Given the description of an element on the screen output the (x, y) to click on. 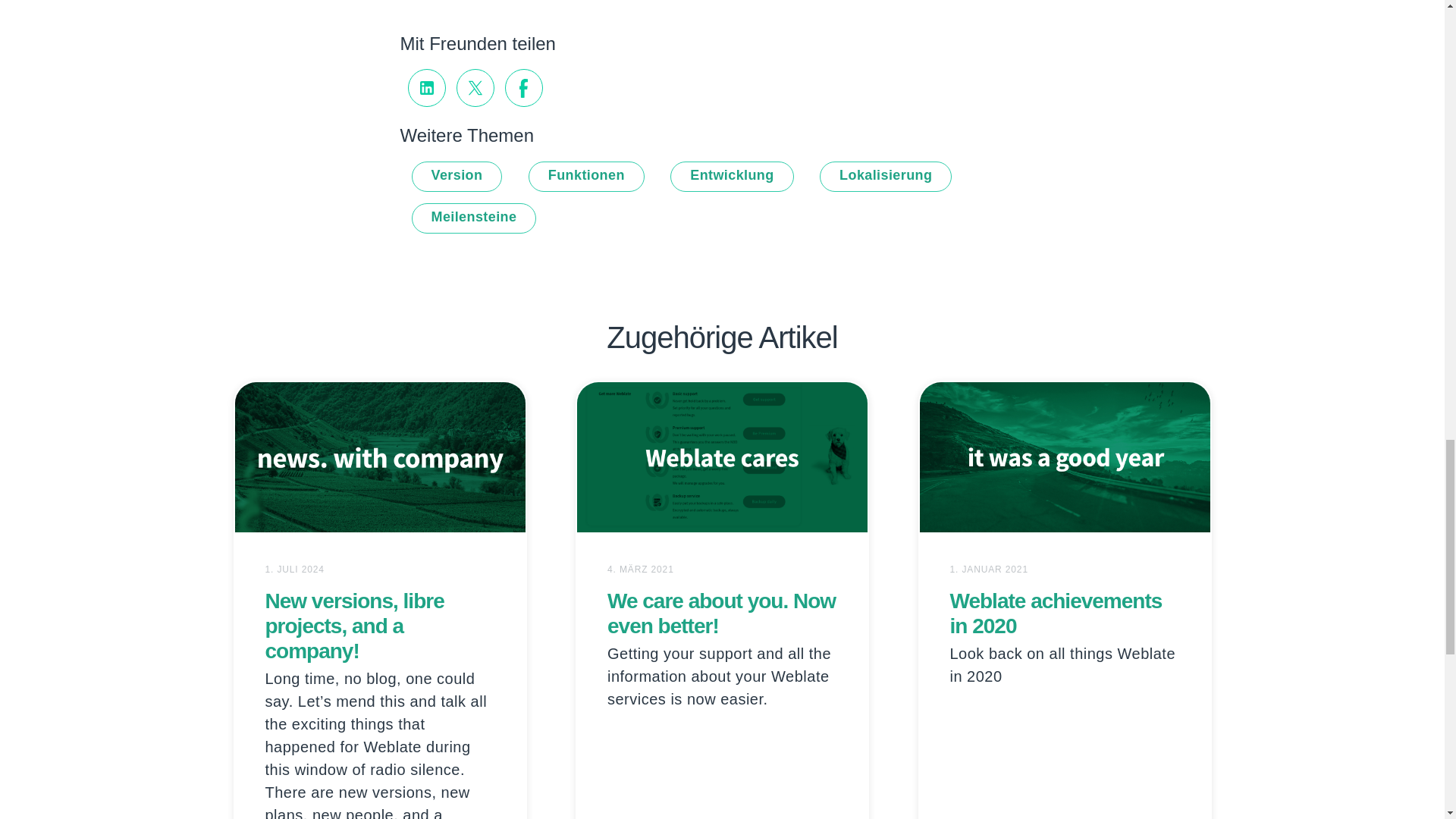
Entwicklung (731, 176)
New versions, libre projects, and a company! (354, 625)
Weblate achievements in 2020 (1055, 613)
Meilensteine (472, 218)
We care about you. Now even better! (721, 613)
Funktionen (586, 176)
Version (456, 176)
Lokalisierung (885, 176)
